Given the description of an element on the screen output the (x, y) to click on. 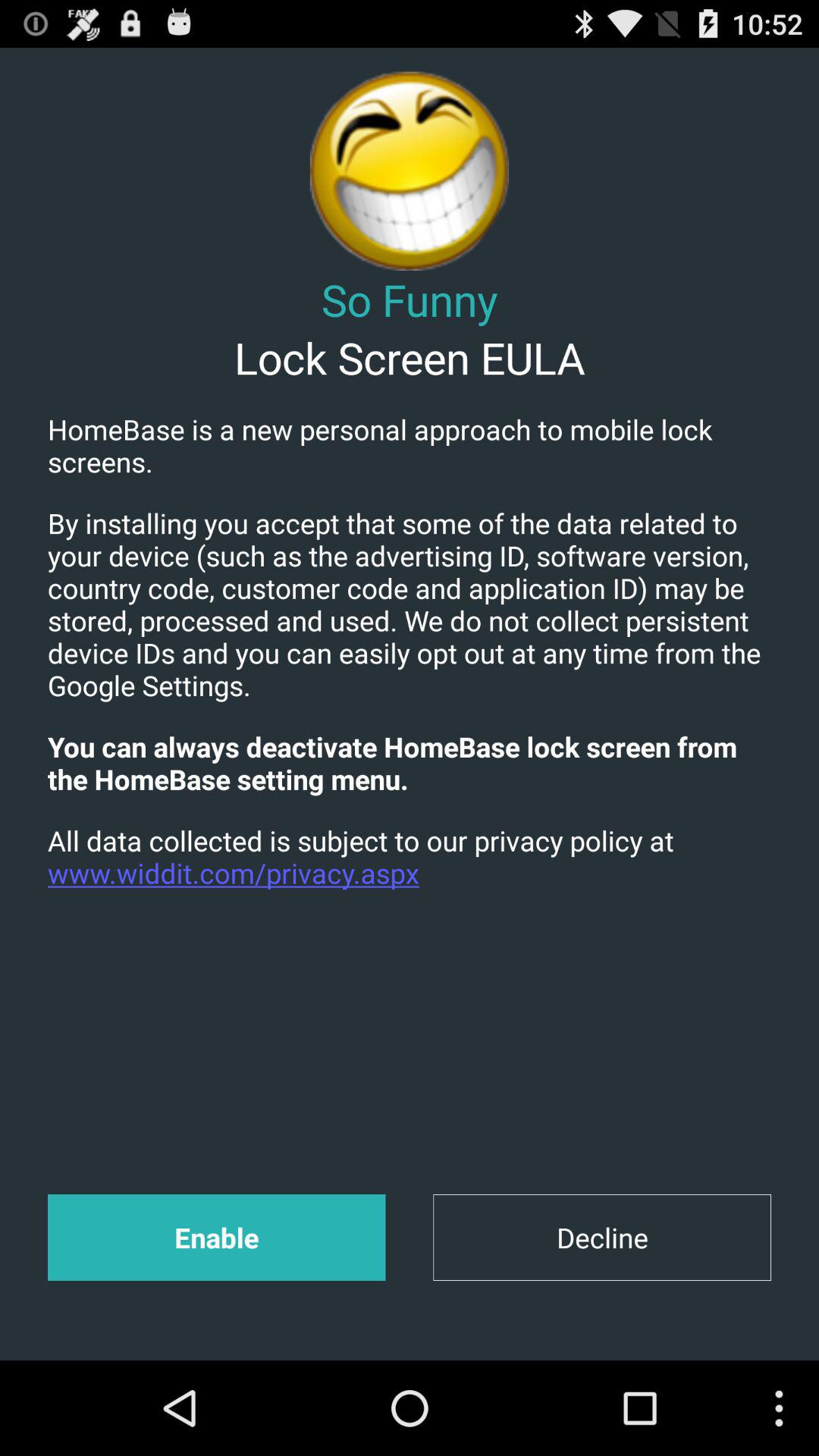
scroll to the enable item (216, 1237)
